Given the description of an element on the screen output the (x, y) to click on. 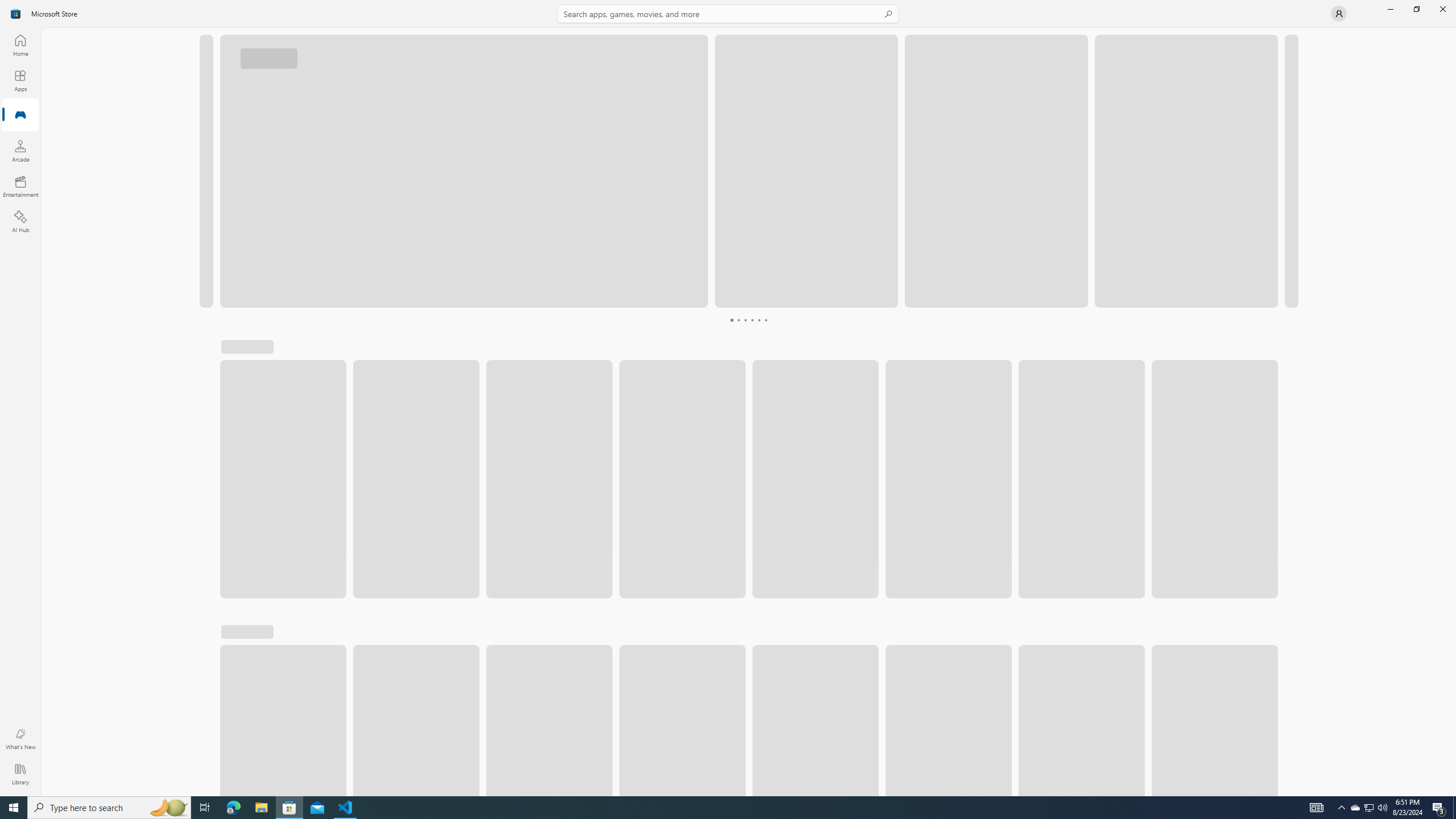
Gaming (20, 115)
Shooter (436, 352)
Roblox. Average rating of 4.5 out of five stars. Free   (282, 517)
AutomationID: LeftScrollButton (1246, 668)
Page 4 (738, 319)
